Given the description of an element on the screen output the (x, y) to click on. 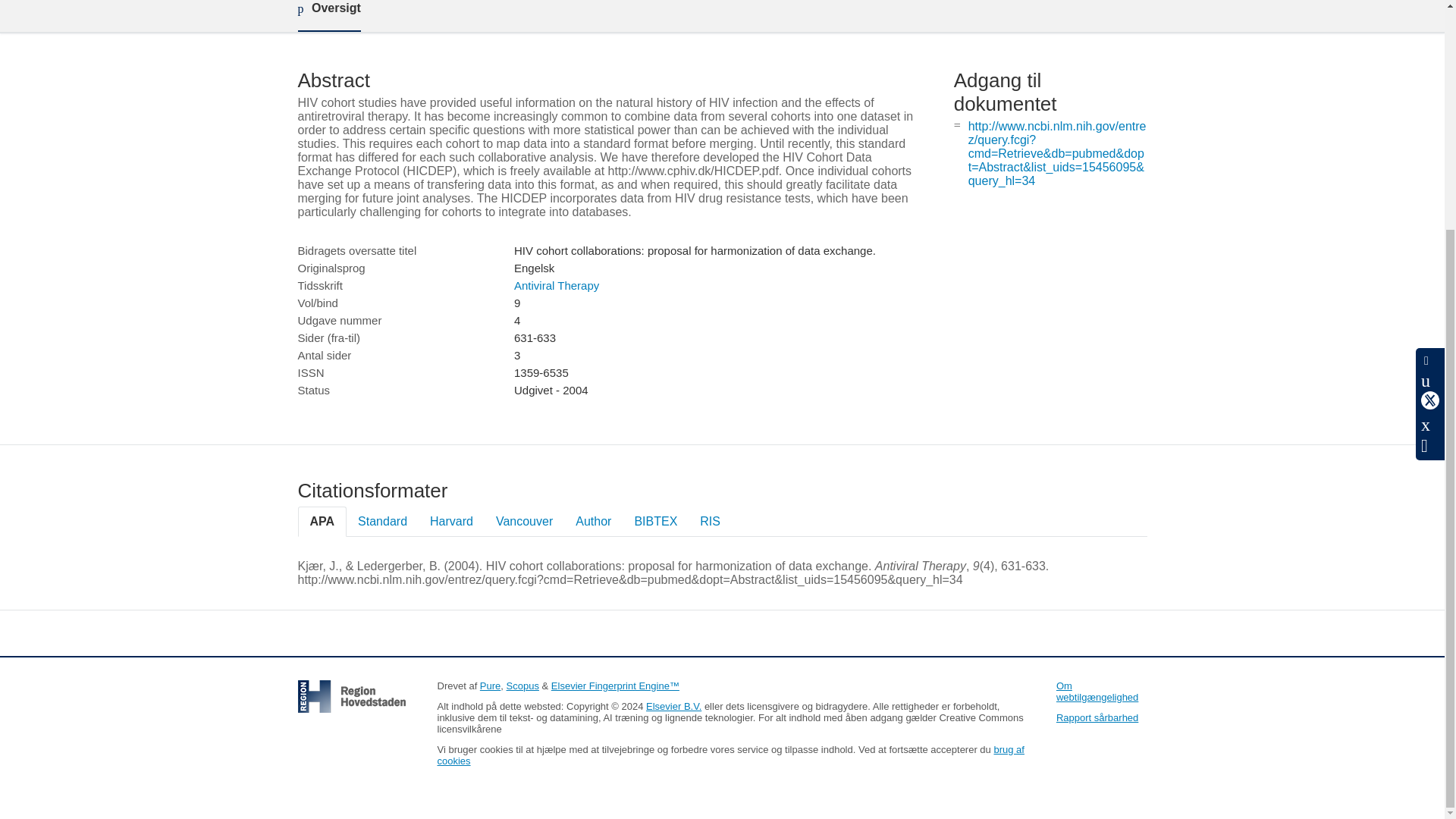
Elsevier B.V. (673, 706)
Antiviral Therapy (555, 285)
Oversigt (328, 15)
Scopus (522, 685)
Pure (490, 685)
brug af cookies (729, 754)
